Given the description of an element on the screen output the (x, y) to click on. 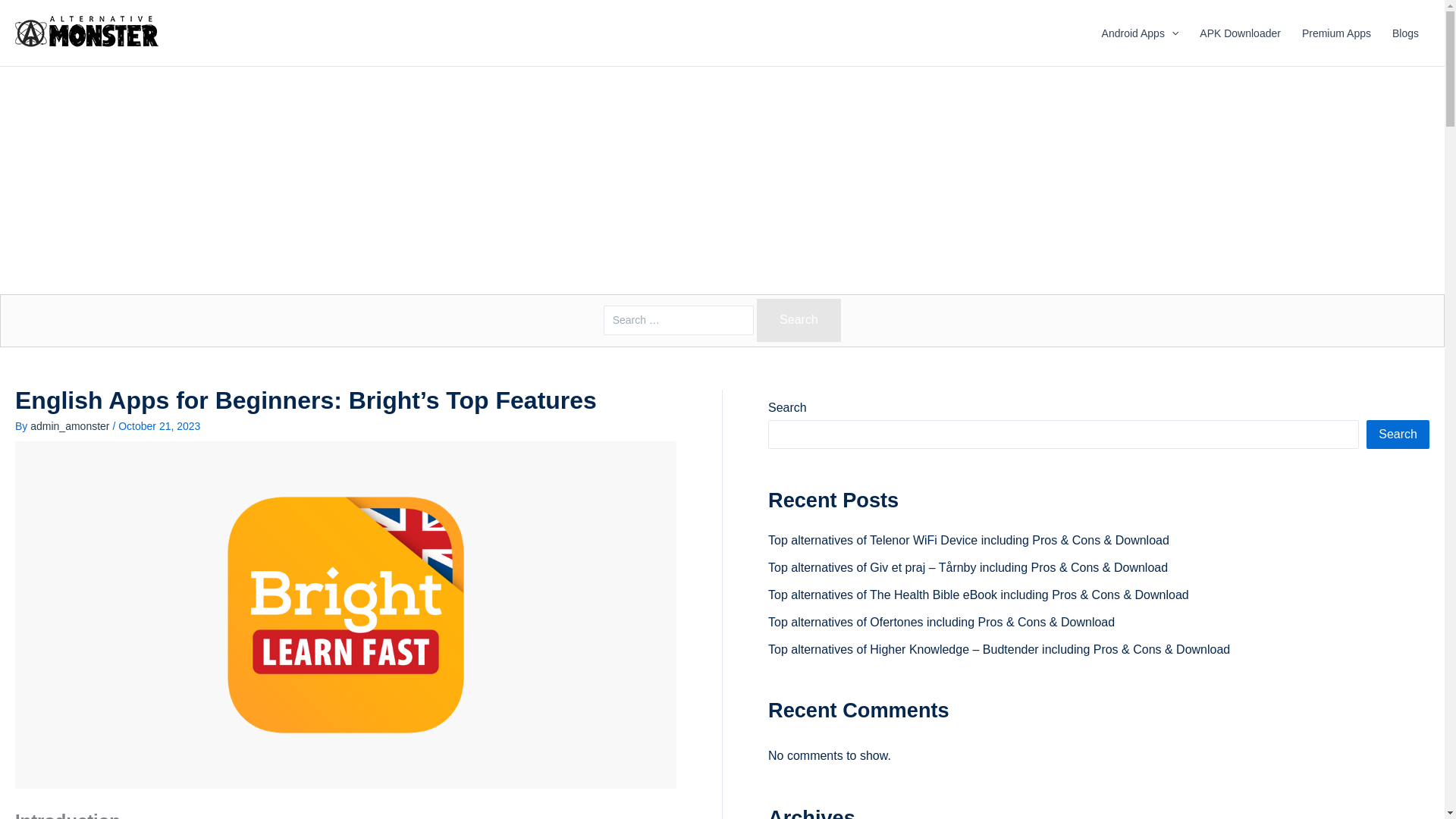
Search (799, 320)
Android Apps (1139, 33)
Search (799, 320)
Premium Apps (1336, 33)
Search (799, 320)
APK Downloader (1240, 33)
